Given the description of an element on the screen output the (x, y) to click on. 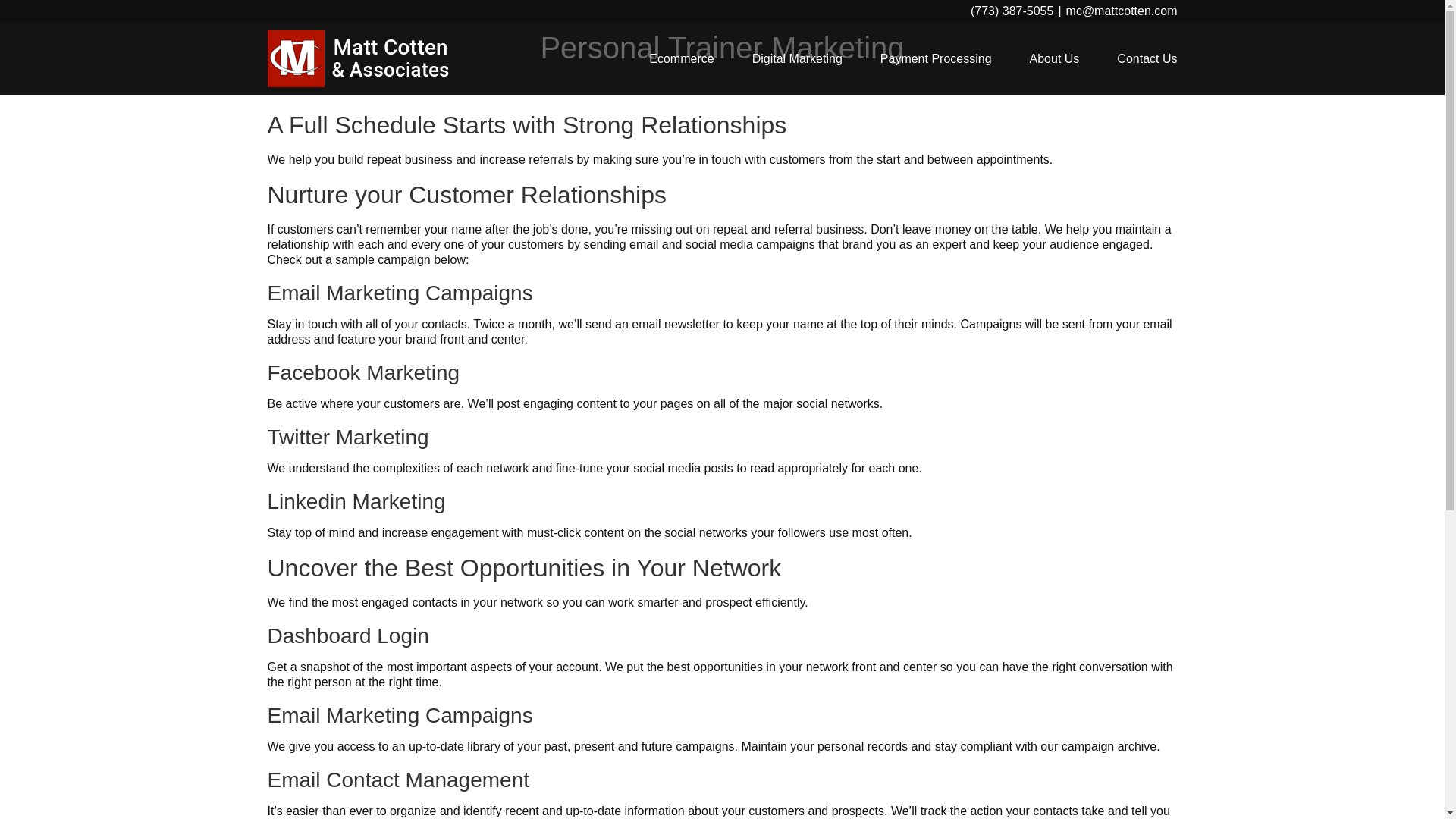
Ecommerce (681, 58)
Payment Processing (935, 58)
Digital Marketing (797, 58)
